Given the description of an element on the screen output the (x, y) to click on. 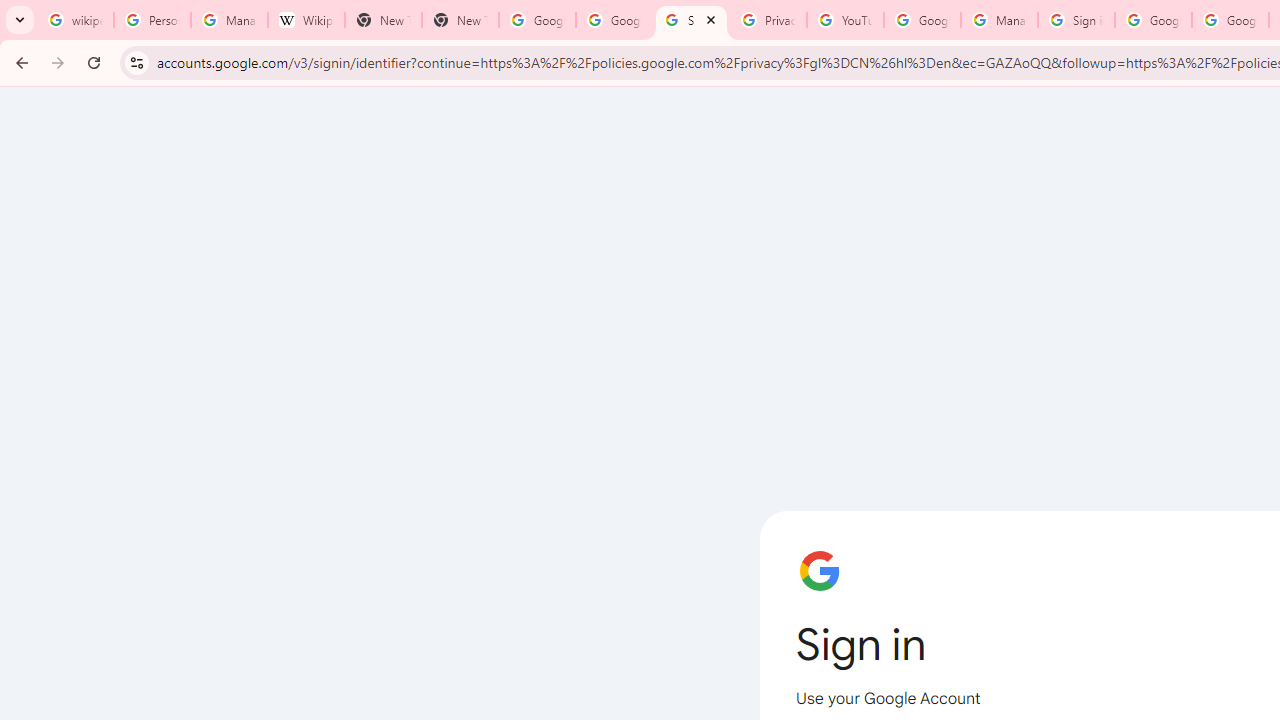
Manage your Location History - Google Search Help (228, 20)
Sign in - Google Accounts (1076, 20)
New Tab (383, 20)
New Tab (460, 20)
